Given the description of an element on the screen output the (x, y) to click on. 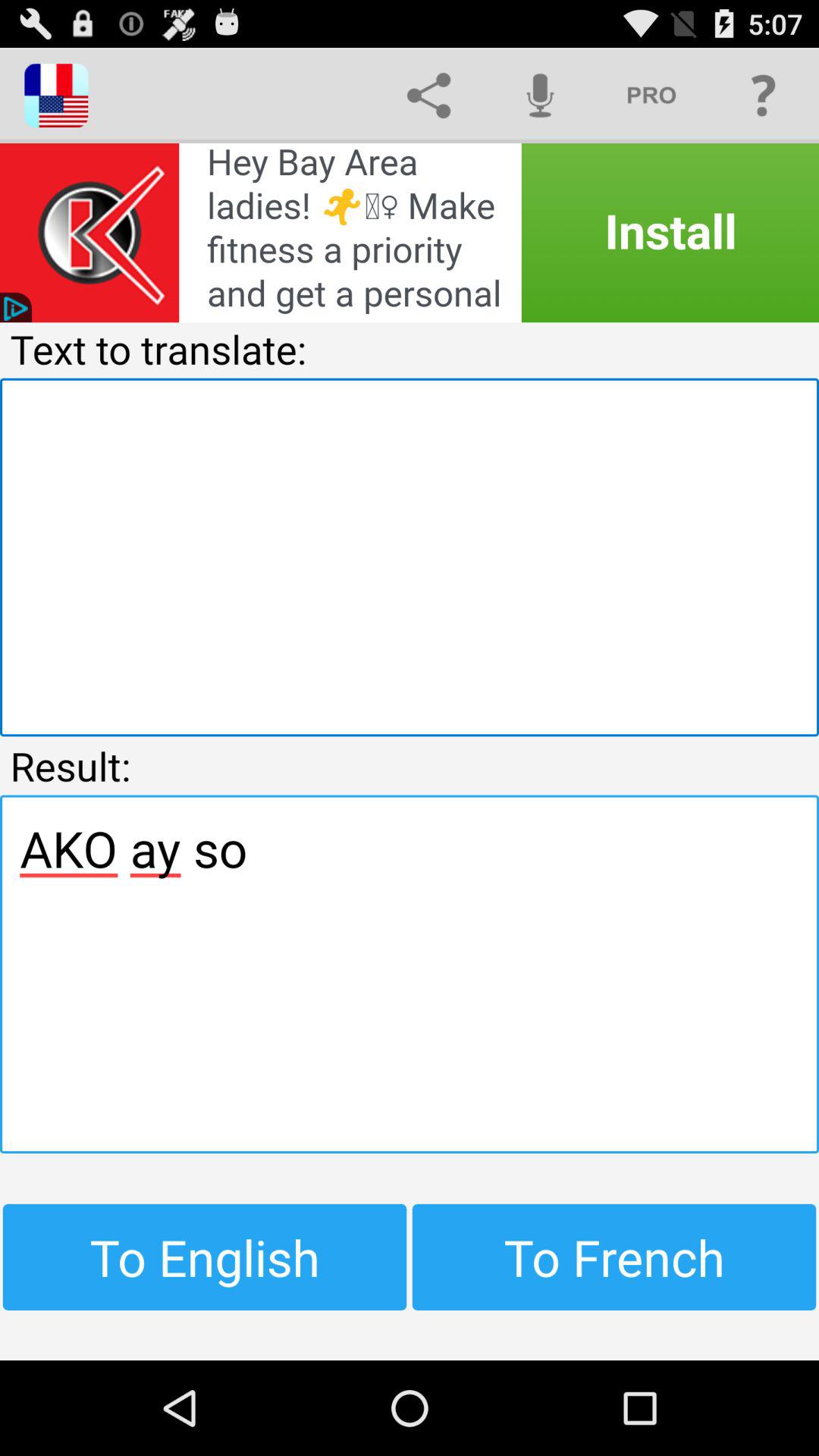
choose app below the result: app (409, 974)
